Given the description of an element on the screen output the (x, y) to click on. 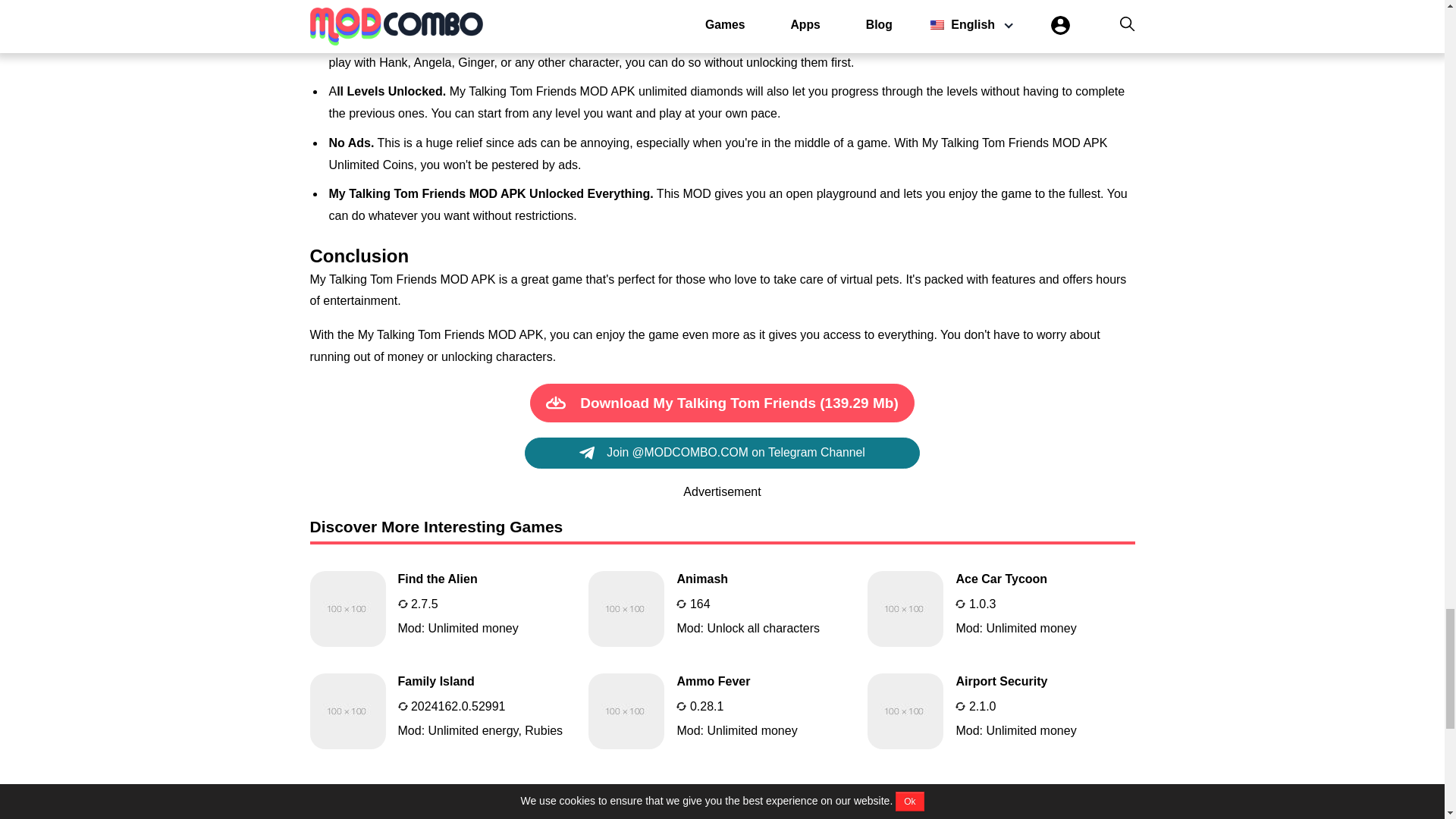
Animash (722, 608)
Ace Car Tycoon (1000, 608)
Airport Security (1000, 711)
Find the Alien (442, 608)
Family Island (1000, 608)
Ammo Fever (722, 608)
